Given the description of an element on the screen output the (x, y) to click on. 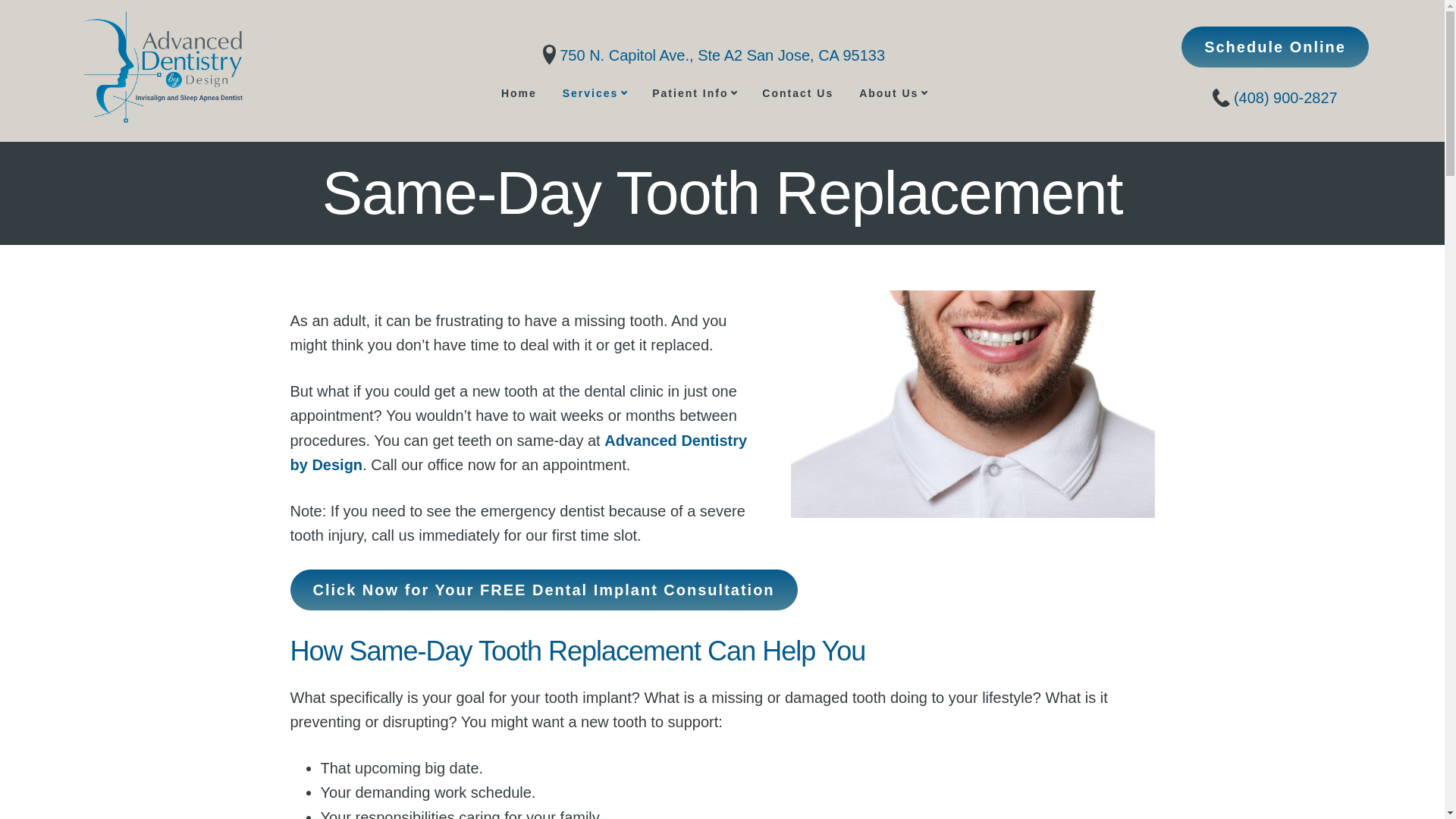
Services (595, 93)
750 N. Capitol Ave., Ste A2 San Jose, CA 95133 (714, 55)
Home (518, 93)
Same-Day Tooth Replacement 1 (972, 402)
